Given the description of an element on the screen output the (x, y) to click on. 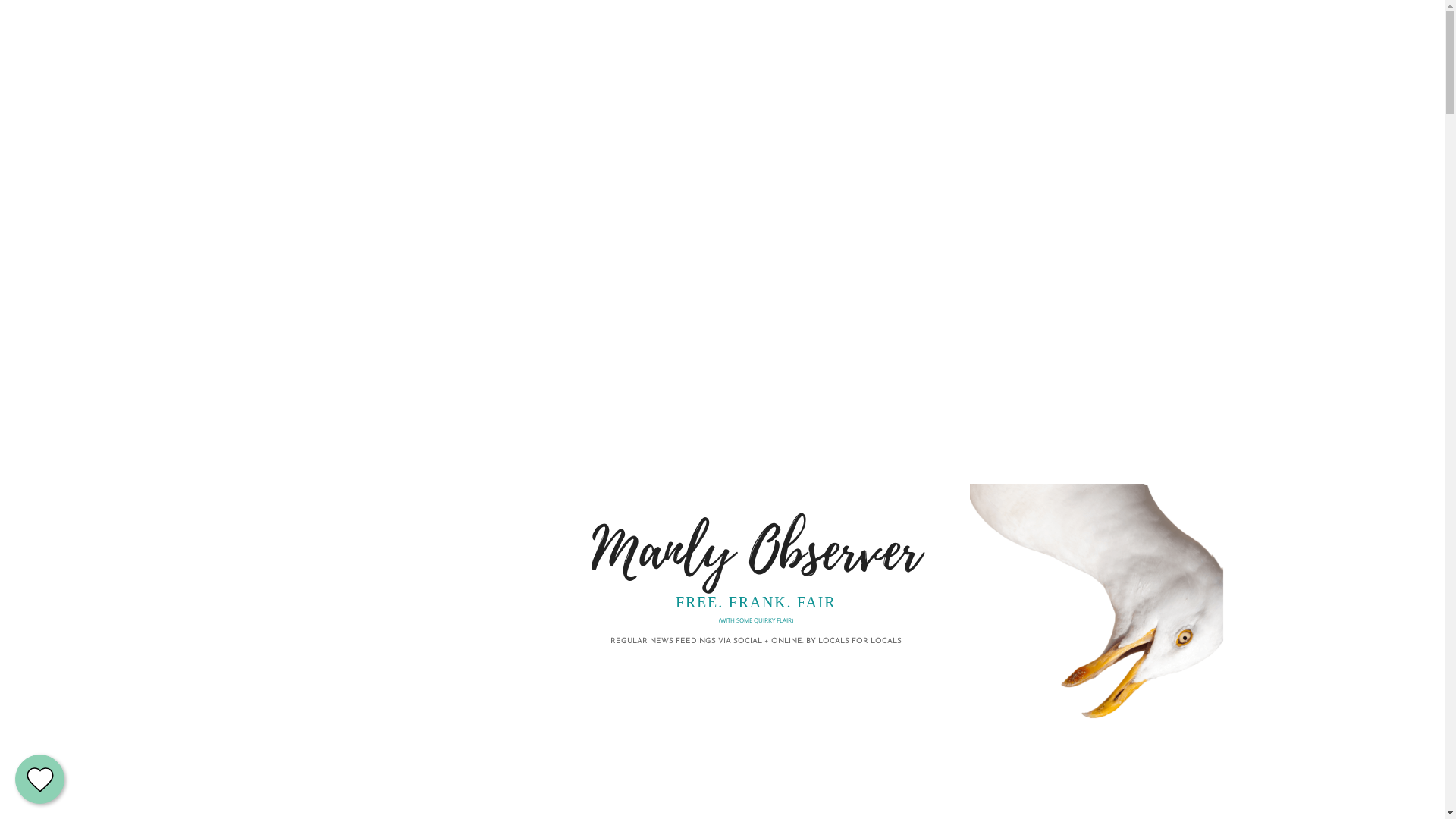
Manly Observer
FREE. FRANK. FAIR Element type: text (755, 564)
